Given the description of an element on the screen output the (x, y) to click on. 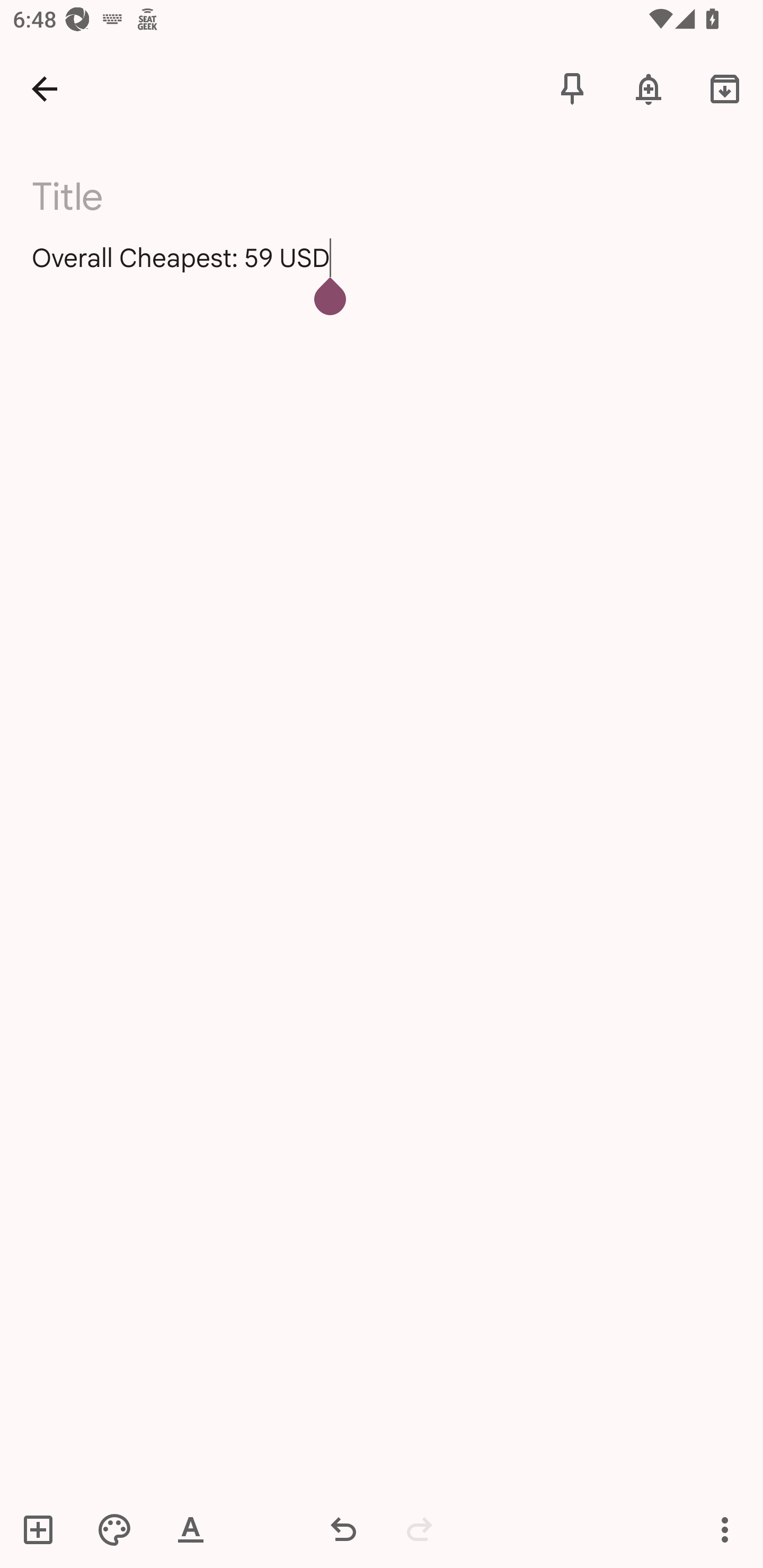
Navigate up (44, 88)
Pin (572, 88)
Reminder (648, 88)
Archive (724, 88)
Overall Cheapest: 59 USD (381, 273)
New list (44, 1529)
Theme (114, 1529)
Show formatting controls (190, 1529)
Undo (343, 1529)
Redo (419, 1529)
Action (724, 1529)
